Given the description of an element on the screen output the (x, y) to click on. 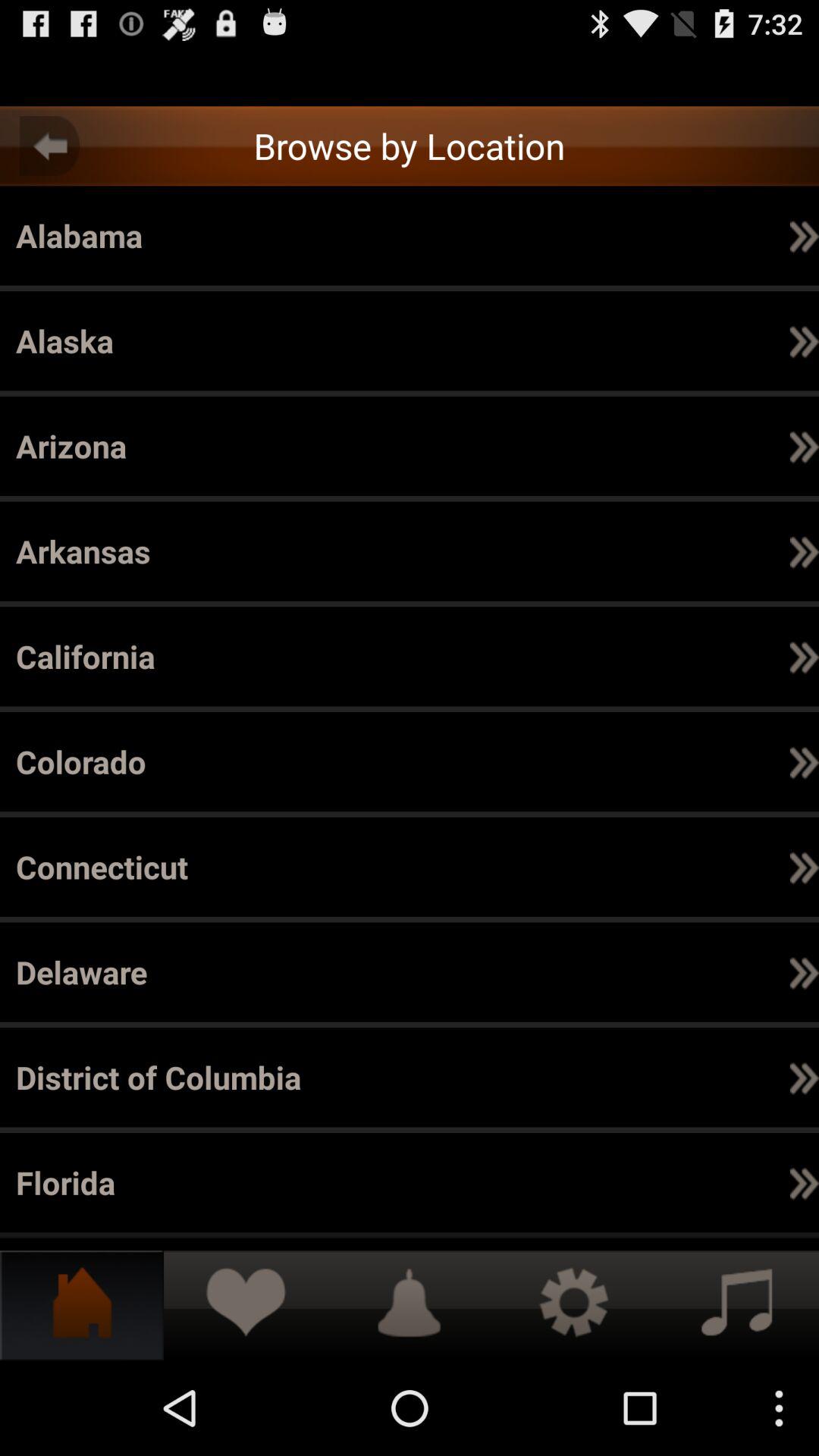
open the item above   glenn (248, 1182)
